Given the description of an element on the screen output the (x, y) to click on. 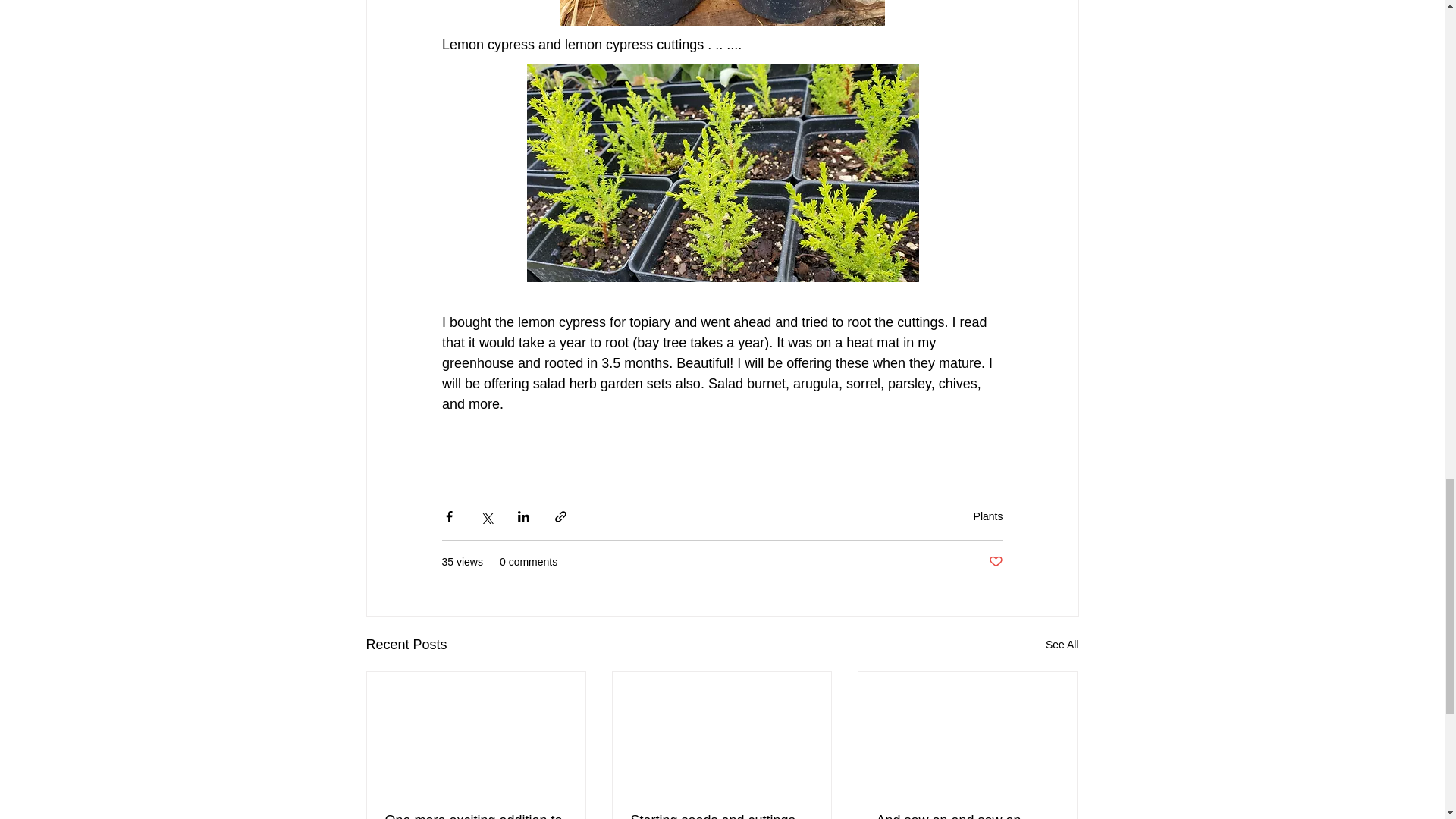
Plants (988, 516)
And sow on and sow on .... ... (967, 816)
See All (1061, 644)
Post not marked as liked (995, 562)
Starting seeds and cuttings (721, 816)
